Given the description of an element on the screen output the (x, y) to click on. 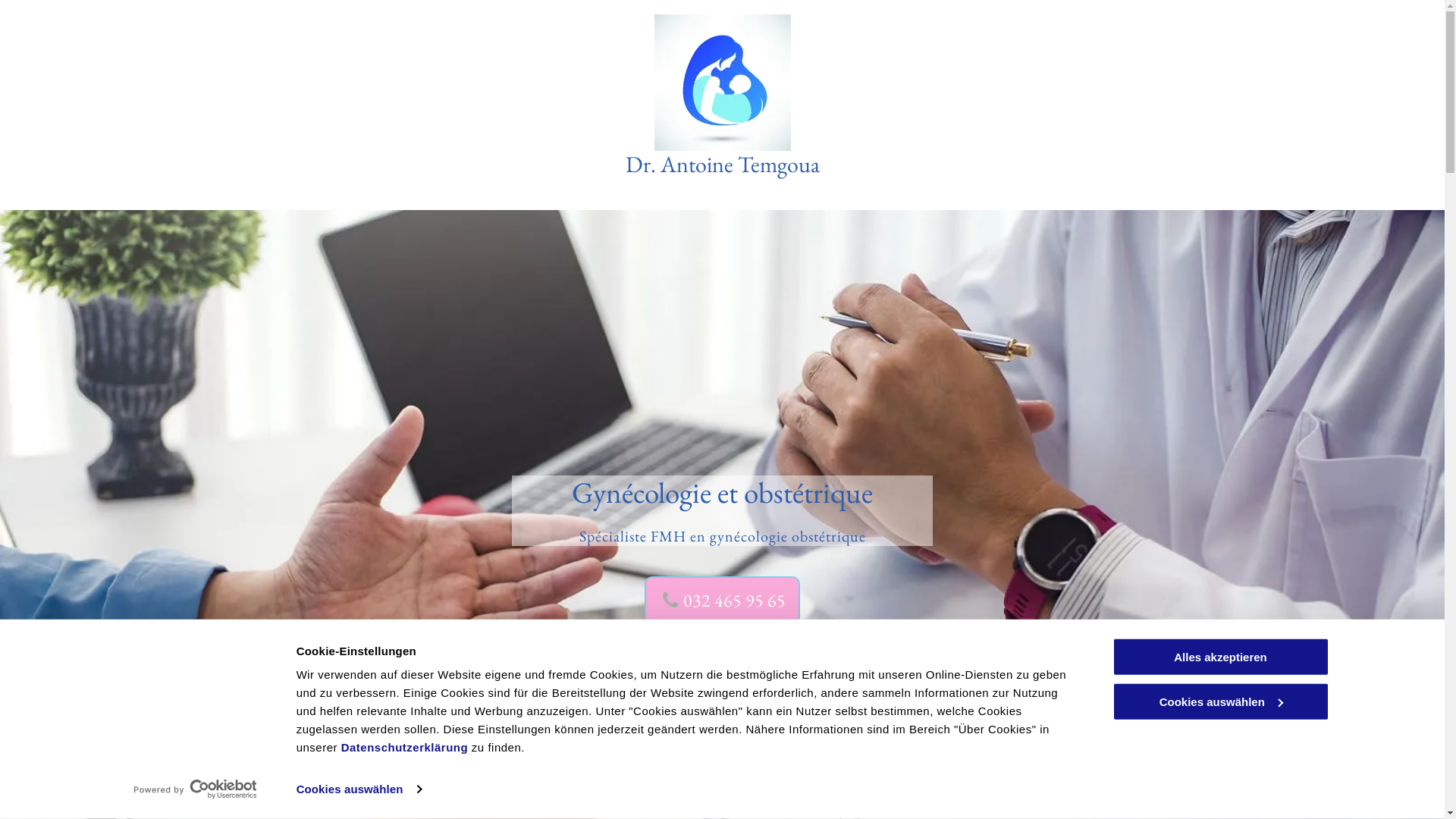
Alles akzeptieren Element type: text (1219, 656)
032 465 95 65 Element type: text (722, 600)
